Given the description of an element on the screen output the (x, y) to click on. 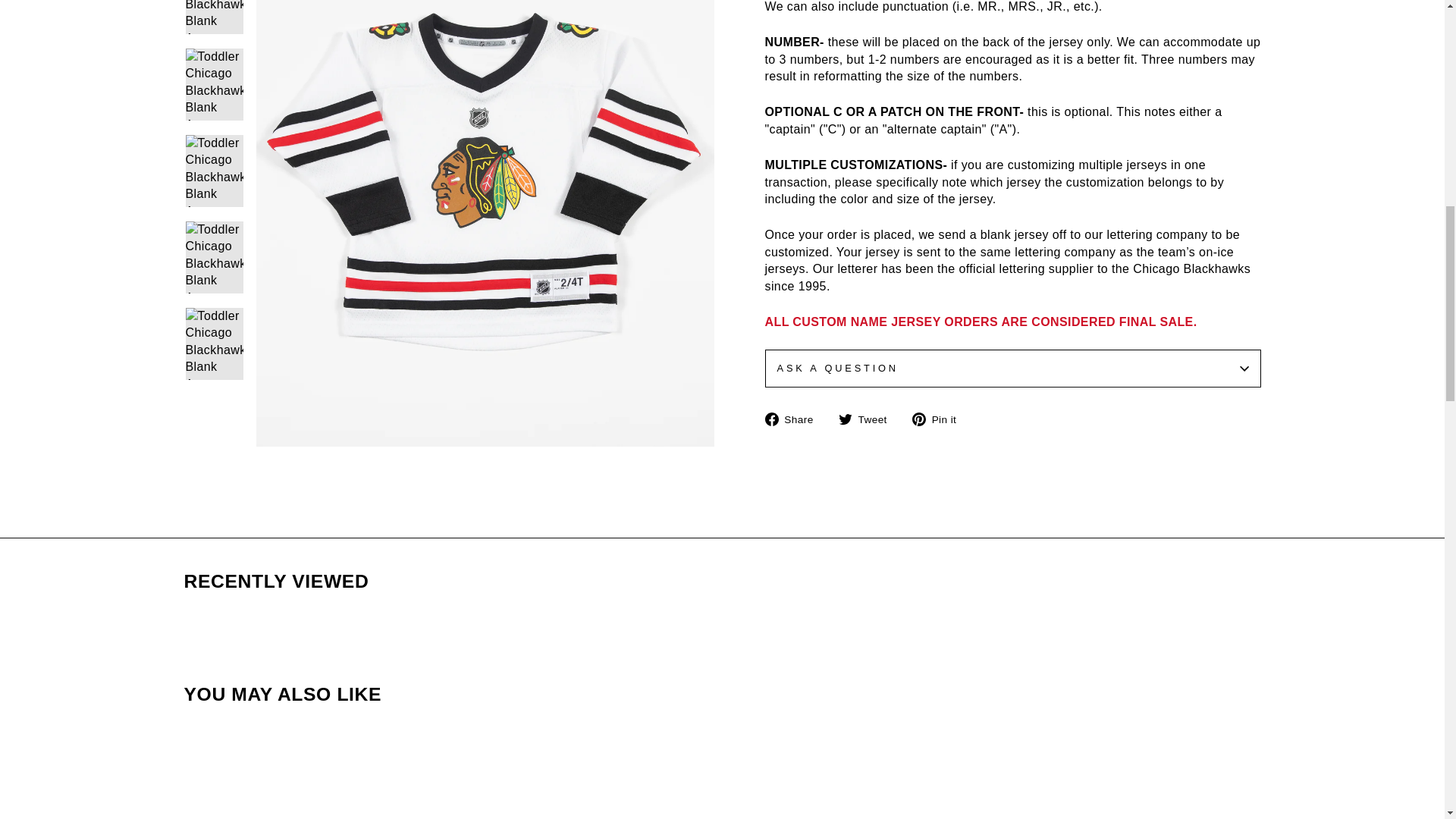
Pin on Pinterest (940, 418)
Tweet on Twitter (868, 418)
twitter (844, 418)
Share on Facebook (794, 418)
